Given the description of an element on the screen output the (x, y) to click on. 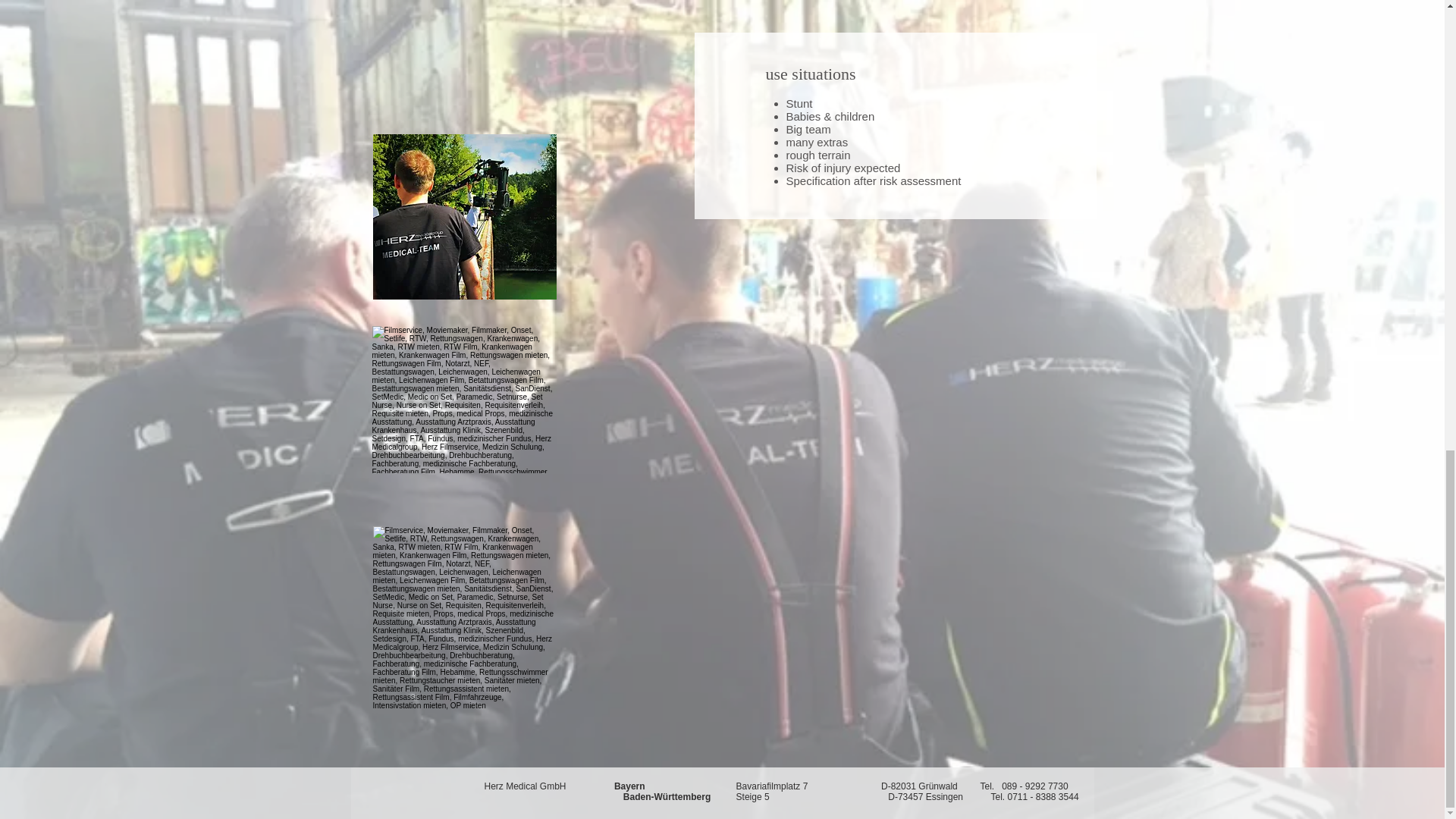
SetMedic (464, 216)
Stuntabsicherung (462, 399)
